Given the description of an element on the screen output the (x, y) to click on. 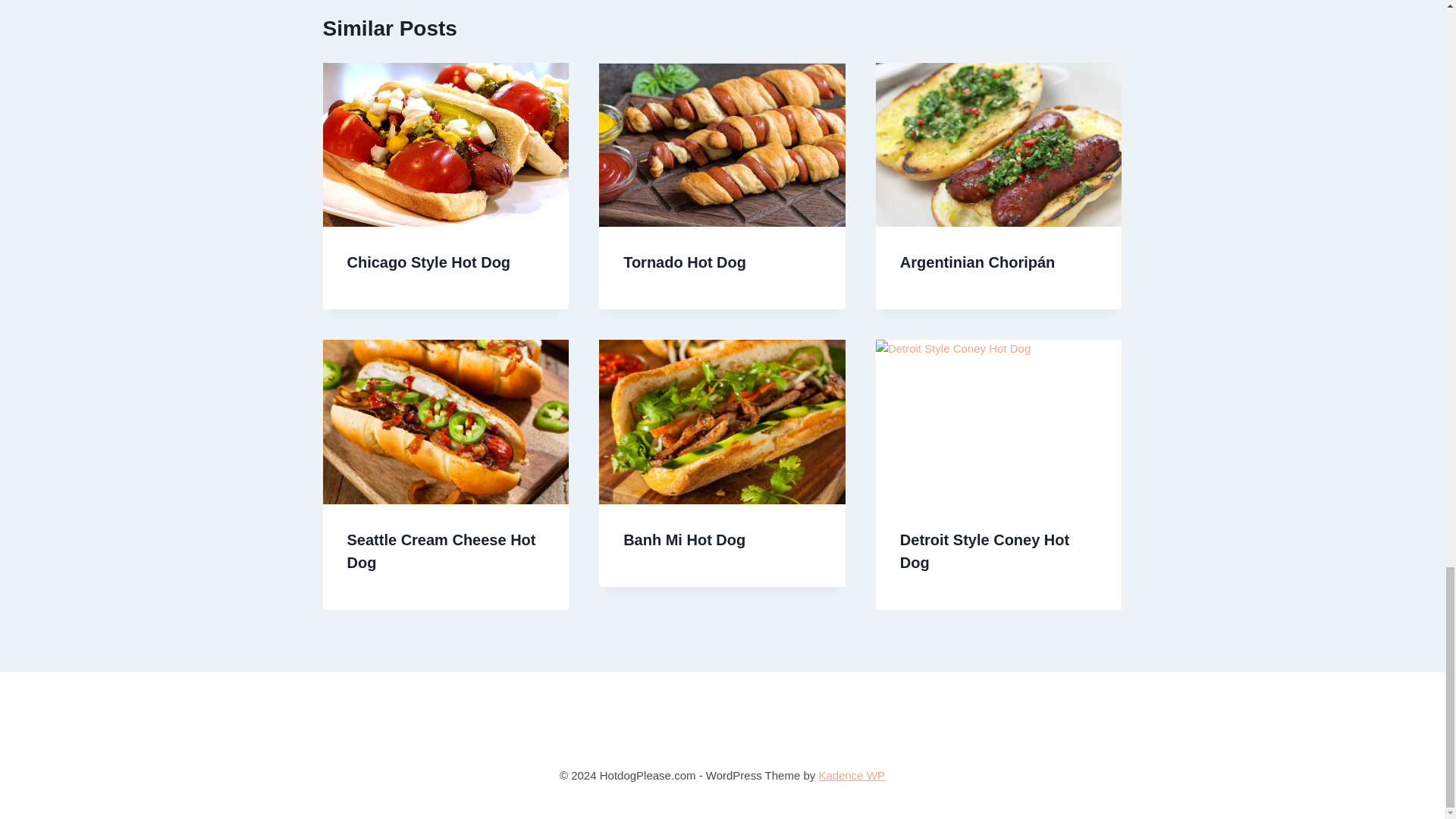
Kadence WP (851, 775)
Tornado Hot Dog (684, 262)
Banh Mi Hot Dog (684, 539)
Seattle Cream Cheese Hot Dog (441, 550)
Chicago Style Hot Dog (429, 262)
Detroit Style Coney Hot Dog (983, 550)
